Given the description of an element on the screen output the (x, y) to click on. 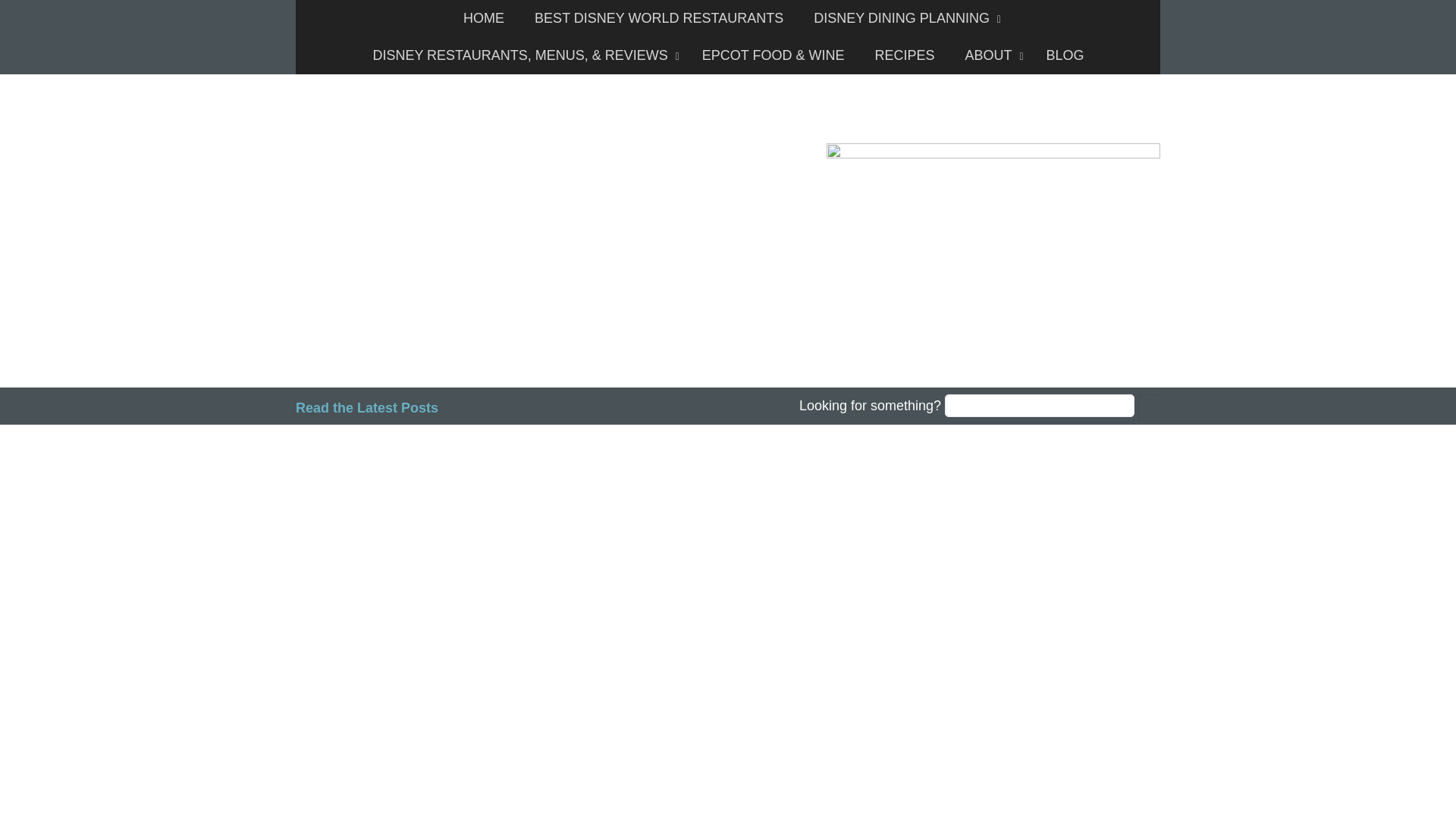
HOME (483, 18)
DISNEY DINING PLANNING (903, 18)
BEST DISNEY WORLD RESTAURANTS (658, 18)
